Given the description of an element on the screen output the (x, y) to click on. 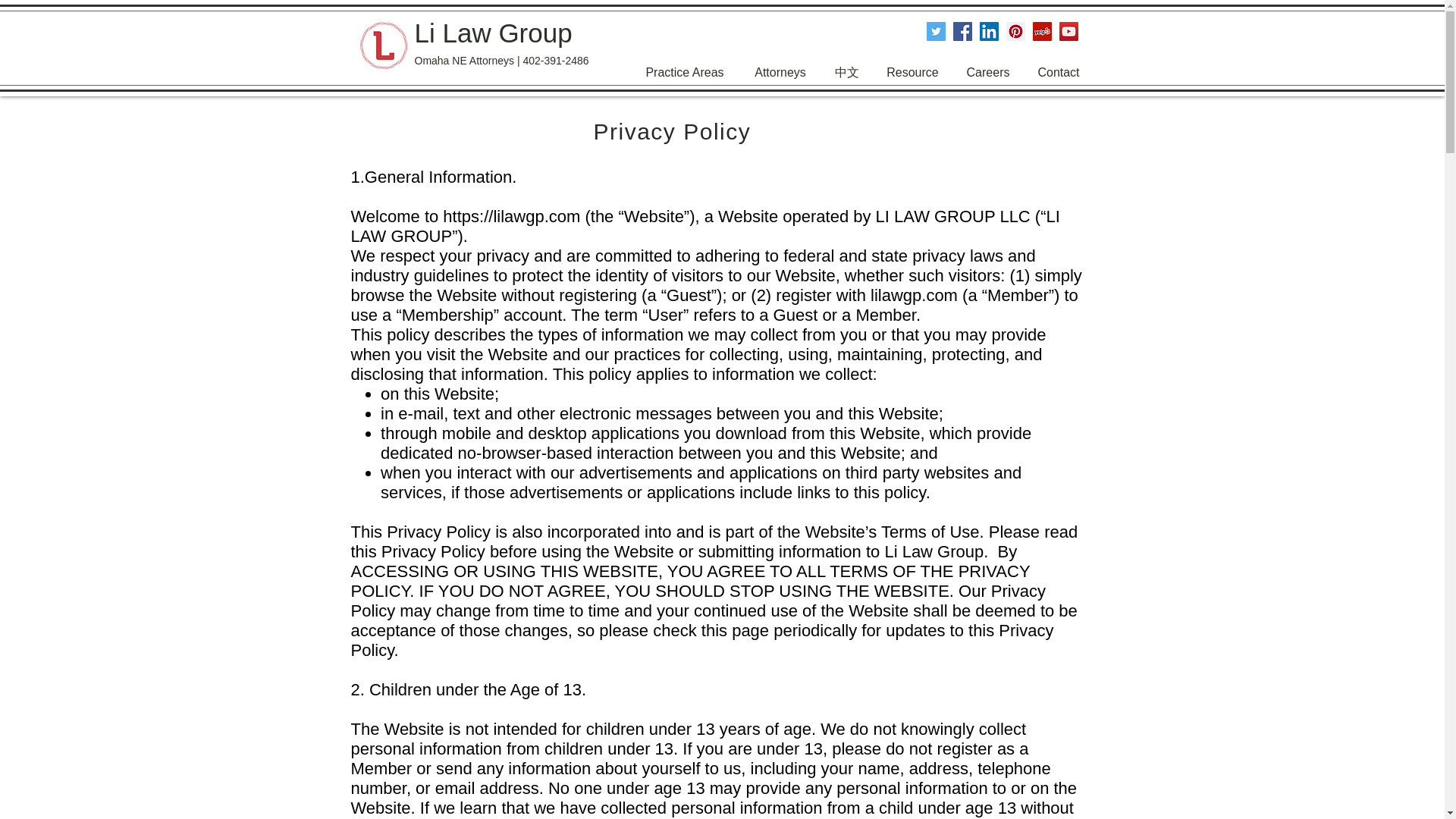
Li Law Group (492, 32)
Careers (987, 72)
Contact (1058, 72)
402-391-2486 (555, 60)
Practice Areas (684, 72)
Omaha NE Attorneys (463, 60)
Attorneys (779, 72)
Resource (912, 72)
